Given the description of an element on the screen output the (x, y) to click on. 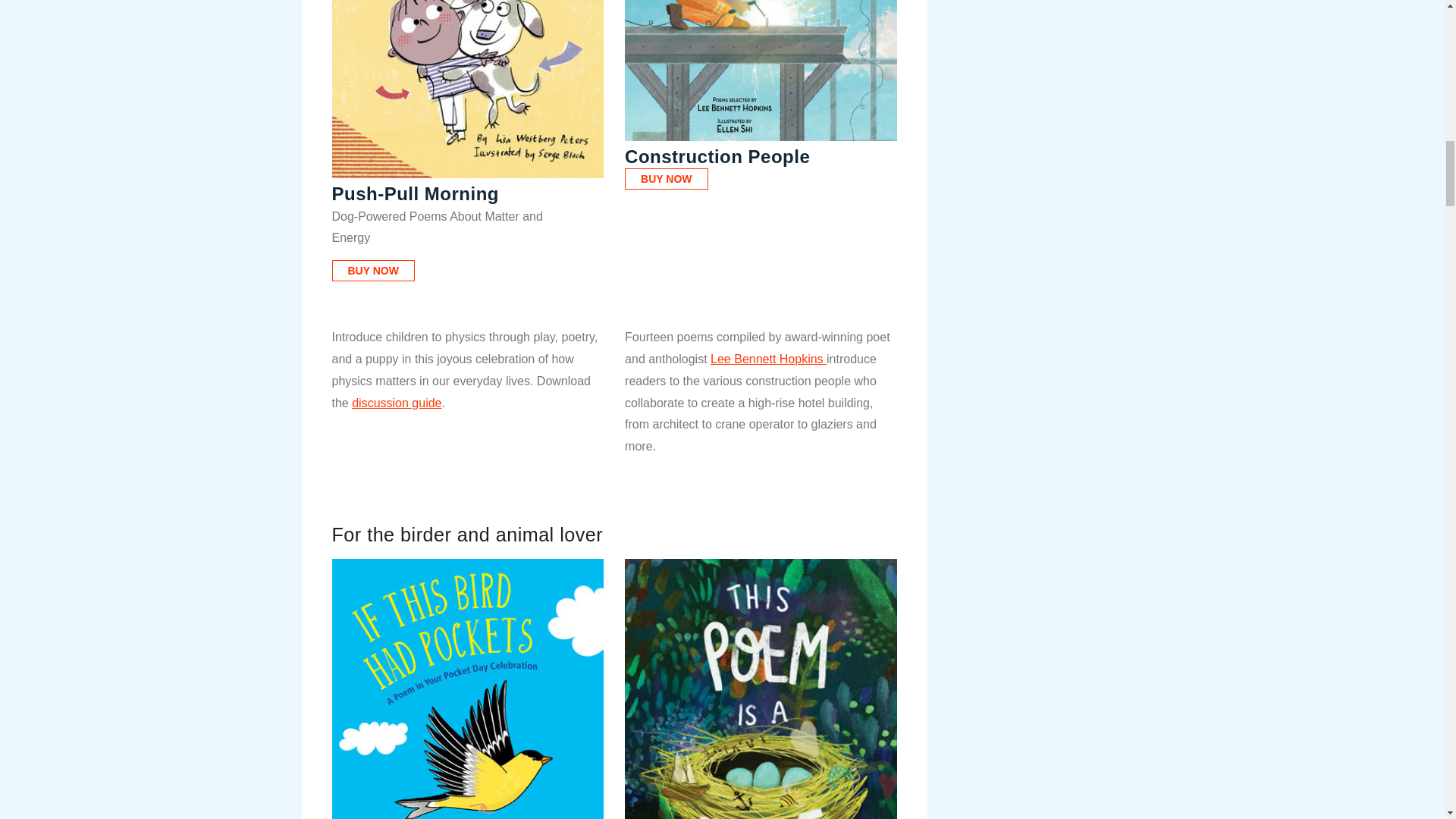
This Poem Is a Nest (760, 688)
Push-Pull Morning (467, 89)
Construction People (760, 70)
If This Bird Had Pockets (467, 688)
